Given the description of an element on the screen output the (x, y) to click on. 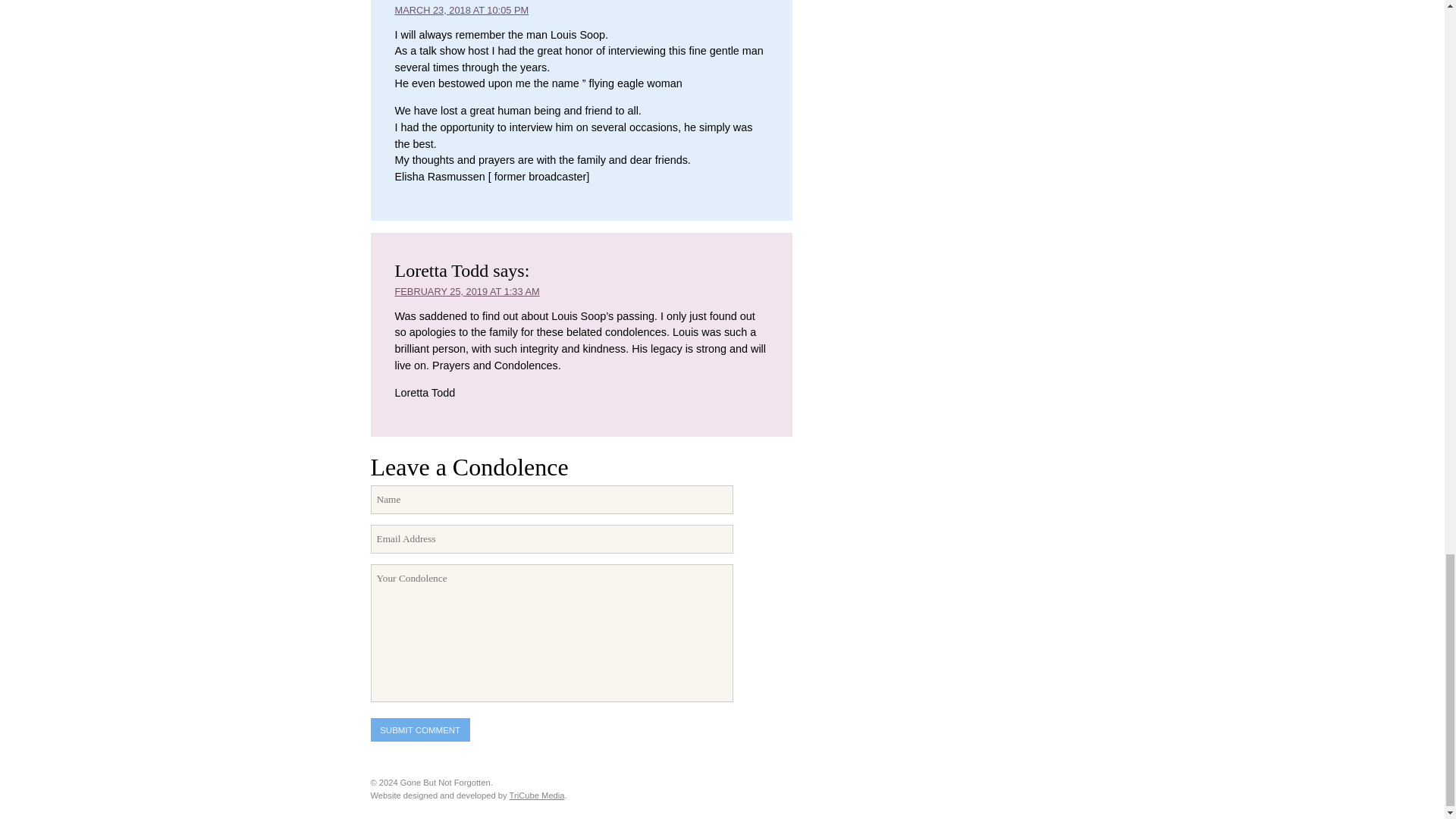
FEBRUARY 25, 2019 AT 1:33 AM (466, 291)
Submit Comment (418, 729)
TriCube Media (536, 795)
MARCH 23, 2018 AT 10:05 PM (461, 9)
Submit Comment (418, 729)
